Given the description of an element on the screen output the (x, y) to click on. 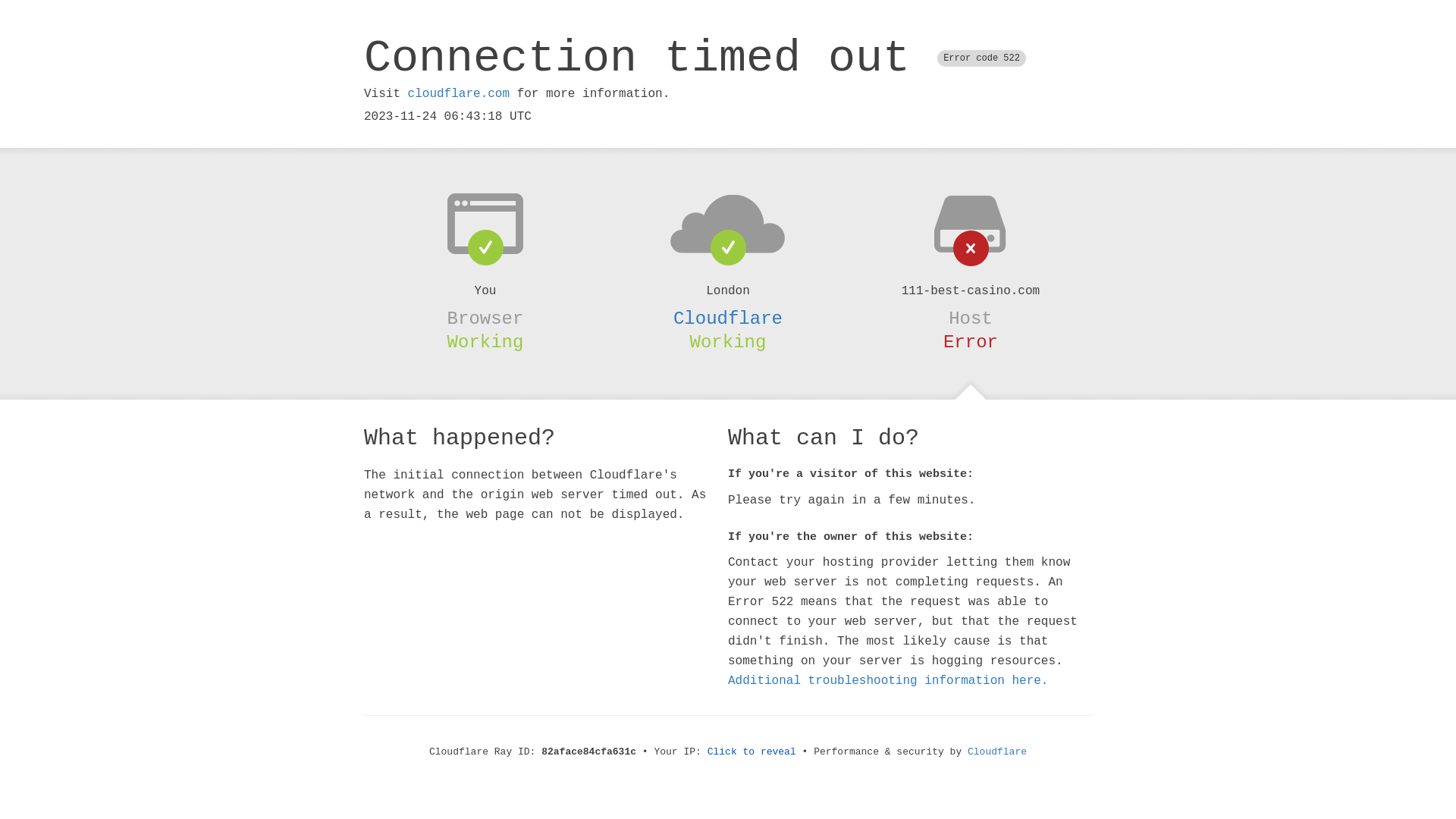
Cloudflare Element type: text (996, 751)
Additional troubleshooting information here. Element type: text (888, 680)
Click to reveal Element type: text (751, 751)
Cloudflare Element type: text (727, 318)
cloudflare.com Element type: text (458, 93)
